Given the description of an element on the screen output the (x, y) to click on. 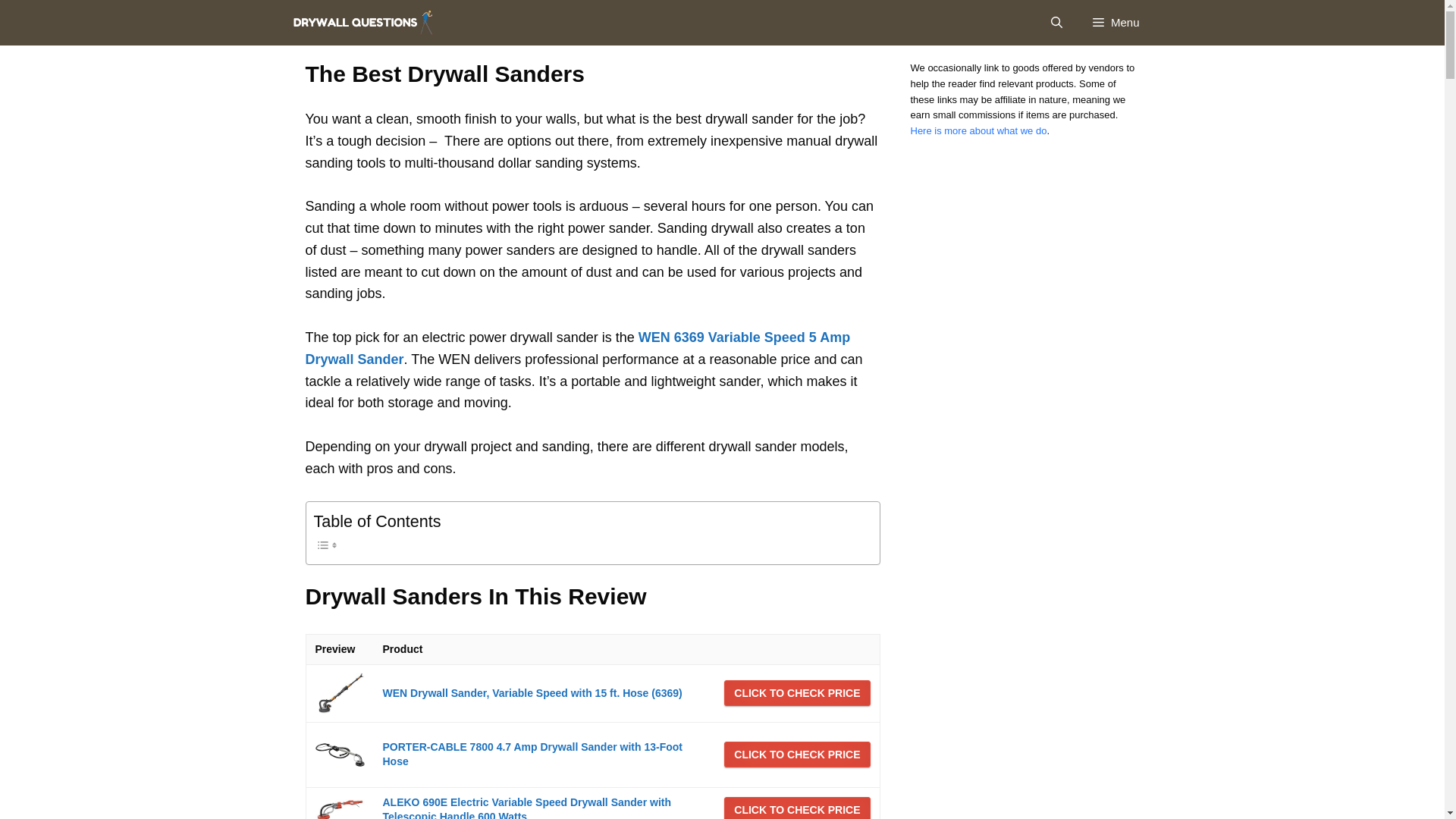
CLICK TO CHECK PRICE (796, 754)
Drywall Questions (365, 22)
Menu (1115, 22)
PORTER-CABLE 7800 4.7 Amp Drywall Sander with 13-Foot Hose (531, 754)
CLICK TO CHECK PRICE (796, 692)
CLICK TO CHECK PRICE (796, 807)
WEN 6369 Variable Speed 5 Amp Drywall Sander (577, 348)
CLICK TO CHECK PRICE (796, 692)
